Given the description of an element on the screen output the (x, y) to click on. 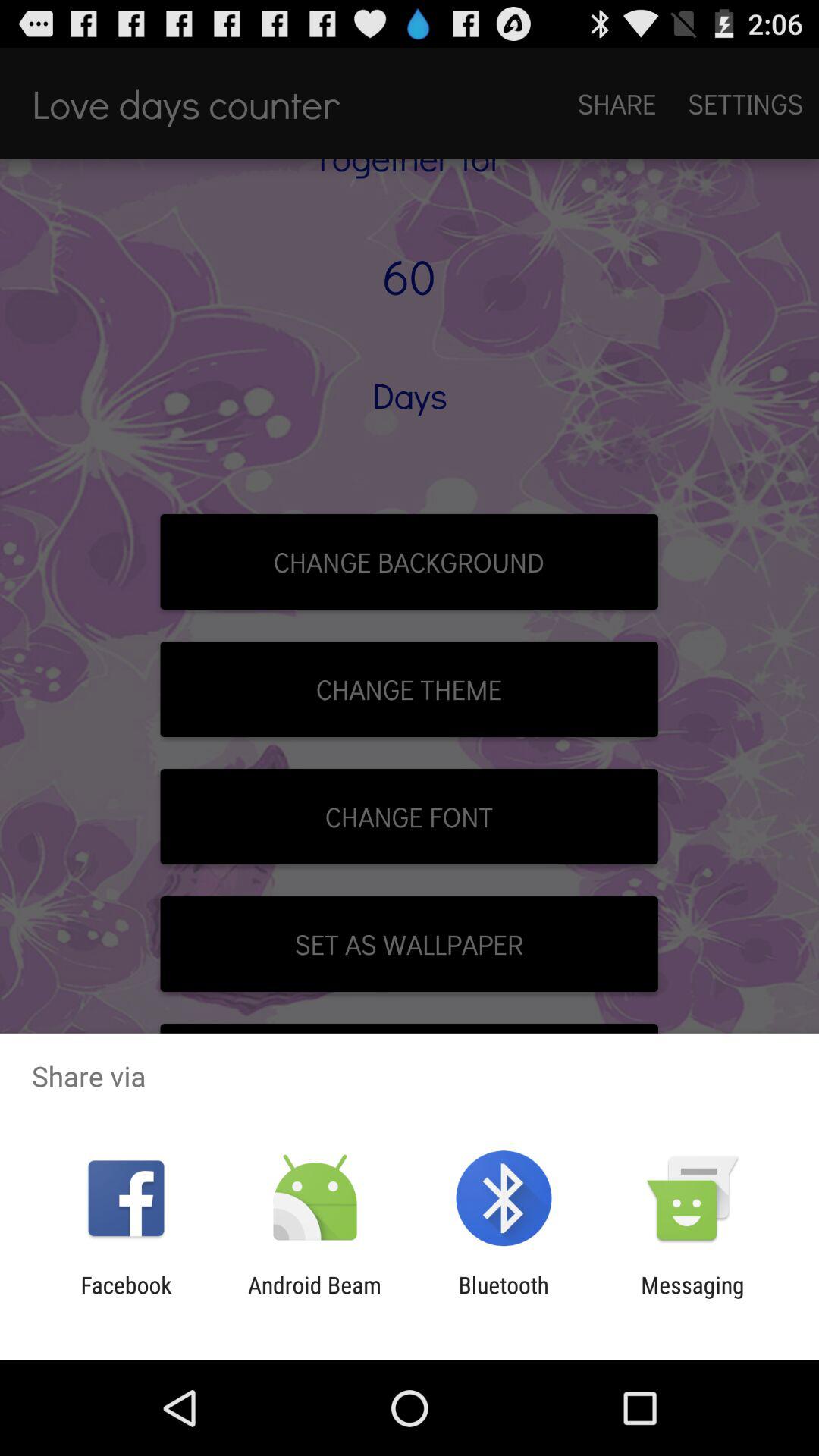
turn off the app next to facebook icon (314, 1298)
